Given the description of an element on the screen output the (x, y) to click on. 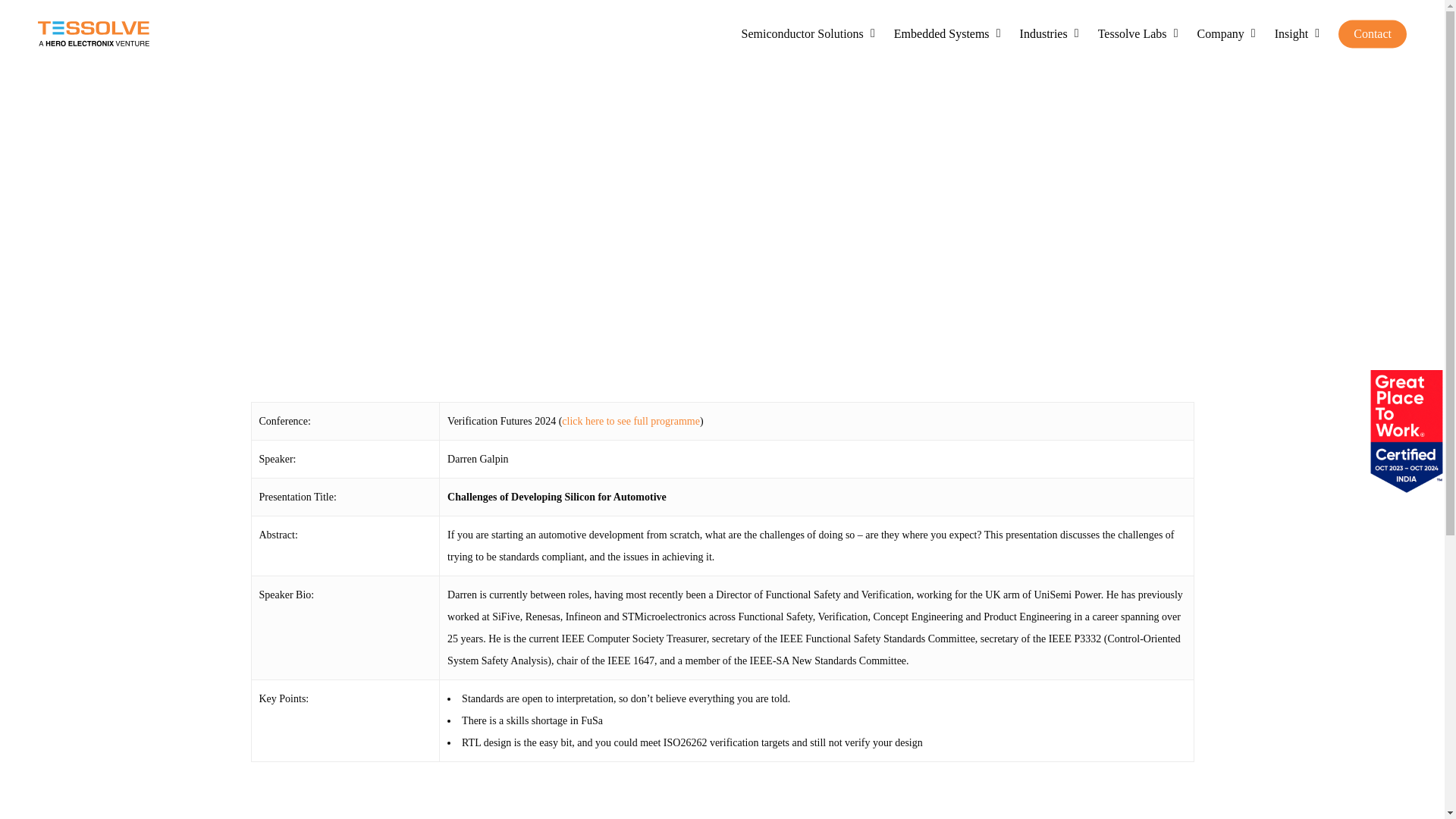
Semiconductor Solutions (810, 33)
Embedded Systems (948, 33)
Industries (1051, 33)
